Given the description of an element on the screen output the (x, y) to click on. 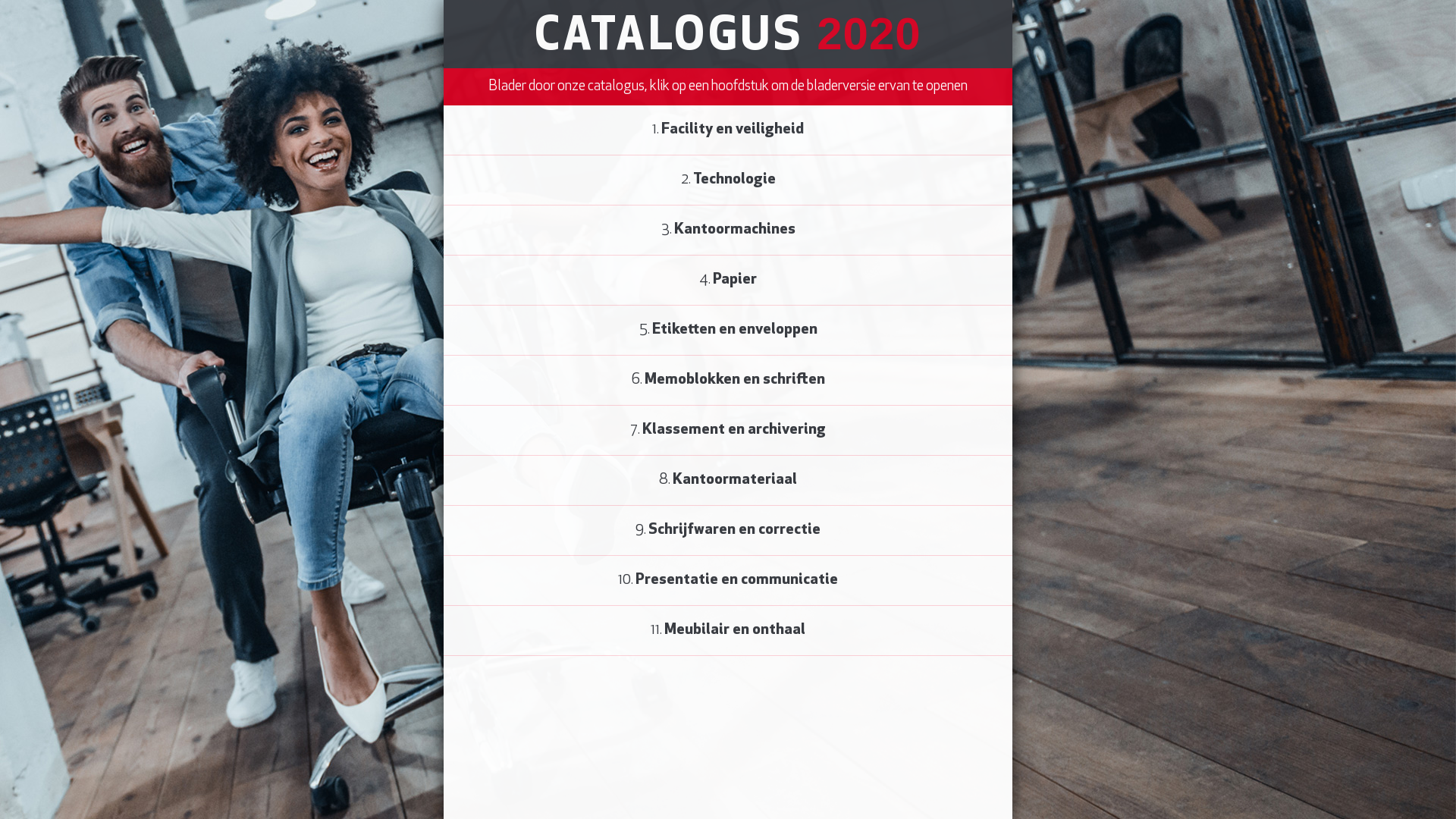
6. Memoblokken en schriften Element type: text (727, 380)
9. Schrijfwaren en correctie Element type: text (727, 530)
7. Klassement en archivering Element type: text (727, 430)
10. Presentatie en communicatie Element type: text (727, 580)
2. Technologie Element type: text (727, 180)
5. Etiketten en enveloppen Element type: text (727, 330)
1. Facility en veiligheid Element type: text (727, 130)
4. Papier Element type: text (727, 280)
8. Kantoormateriaal Element type: text (727, 480)
11. Meubilair en onthaal Element type: text (727, 630)
3. Kantoormachines Element type: text (727, 230)
